Given the description of an element on the screen output the (x, y) to click on. 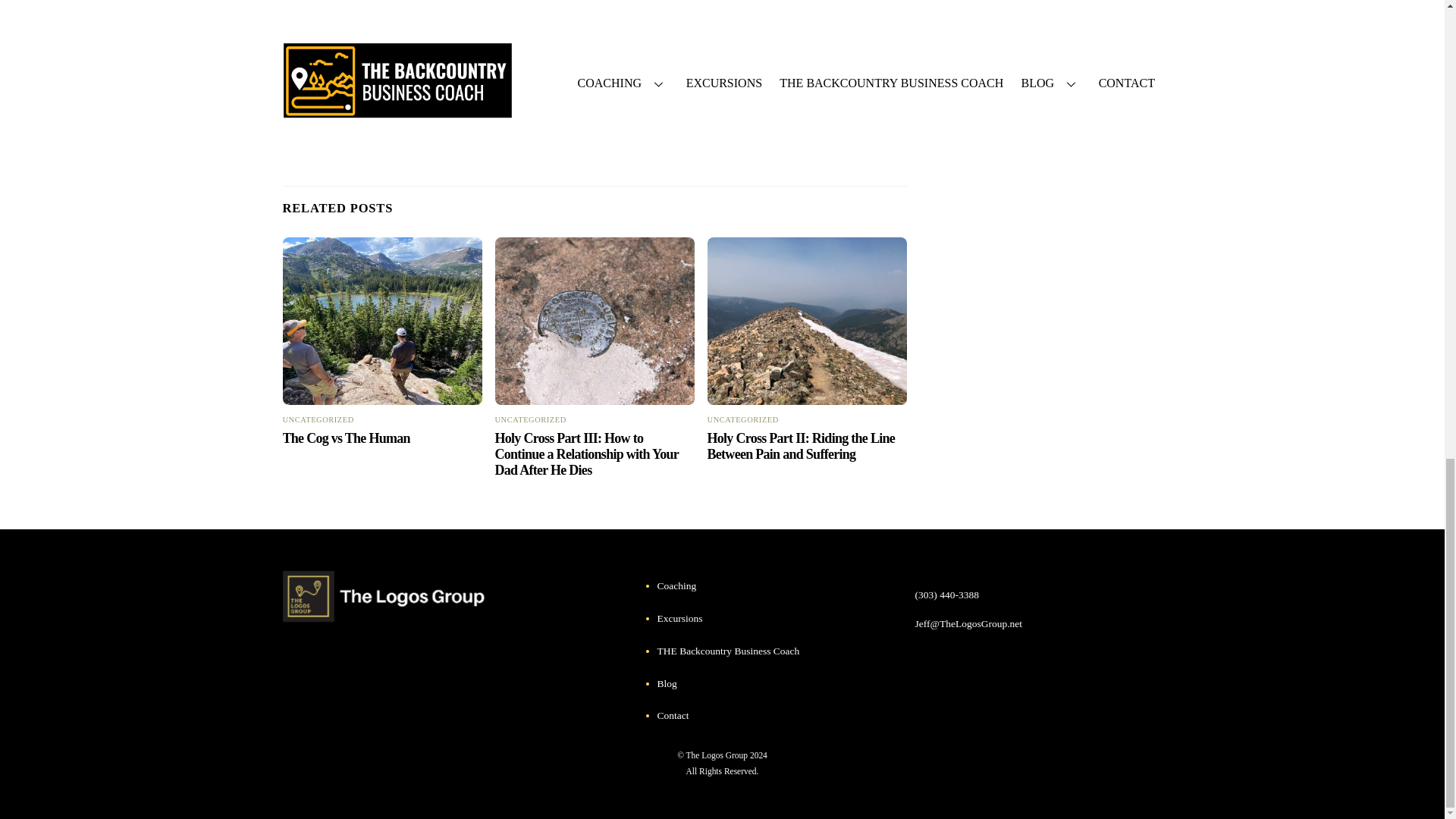
UNCATEGORIZED (317, 419)
UNCATEGORIZED (742, 419)
Excursions (680, 618)
UNCATEGORIZED (530, 419)
THE Backcountry Business Coach (728, 650)
Coaching (677, 585)
The Cog vs The Human (381, 320)
Contact (673, 715)
The Cog vs The Human (345, 437)
Blog (667, 683)
